Given the description of an element on the screen output the (x, y) to click on. 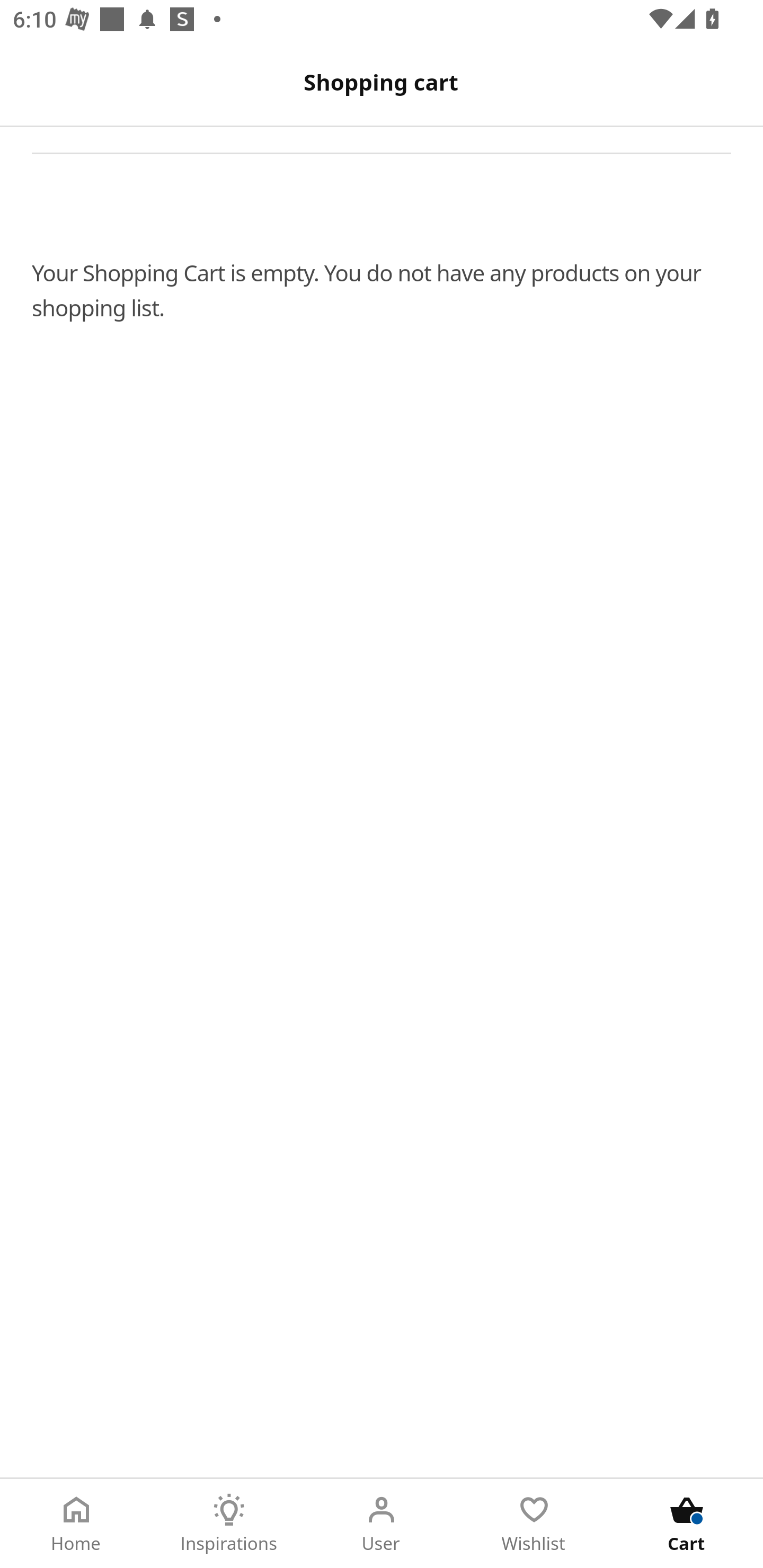
Home
Tab 1 of 5 (76, 1522)
Inspirations
Tab 2 of 5 (228, 1522)
User
Tab 3 of 5 (381, 1522)
Wishlist
Tab 4 of 5 (533, 1522)
Cart
Tab 5 of 5 (686, 1522)
